Given the description of an element on the screen output the (x, y) to click on. 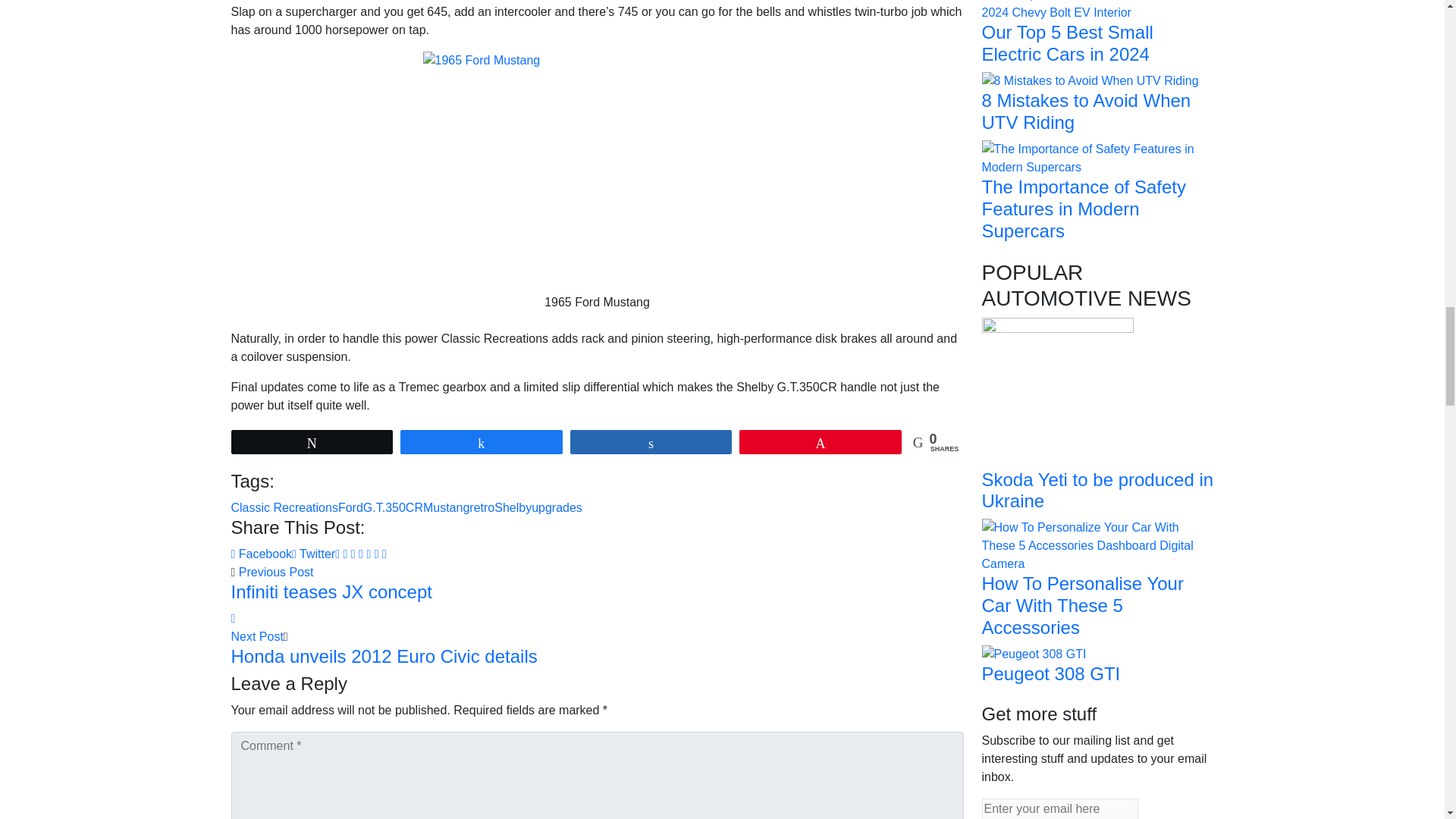
How To Personalise Your Car With These 5 Accessories (1096, 544)
8 Mistakes to Avoid When UTV Riding (1089, 80)
Our Top 5 Best Small Electric Cars in 2024 (1096, 4)
Skoda Yeti to be produced in Ukraine (1056, 391)
The Importance of Safety Features in Modern Supercars (1096, 156)
